Given the description of an element on the screen output the (x, y) to click on. 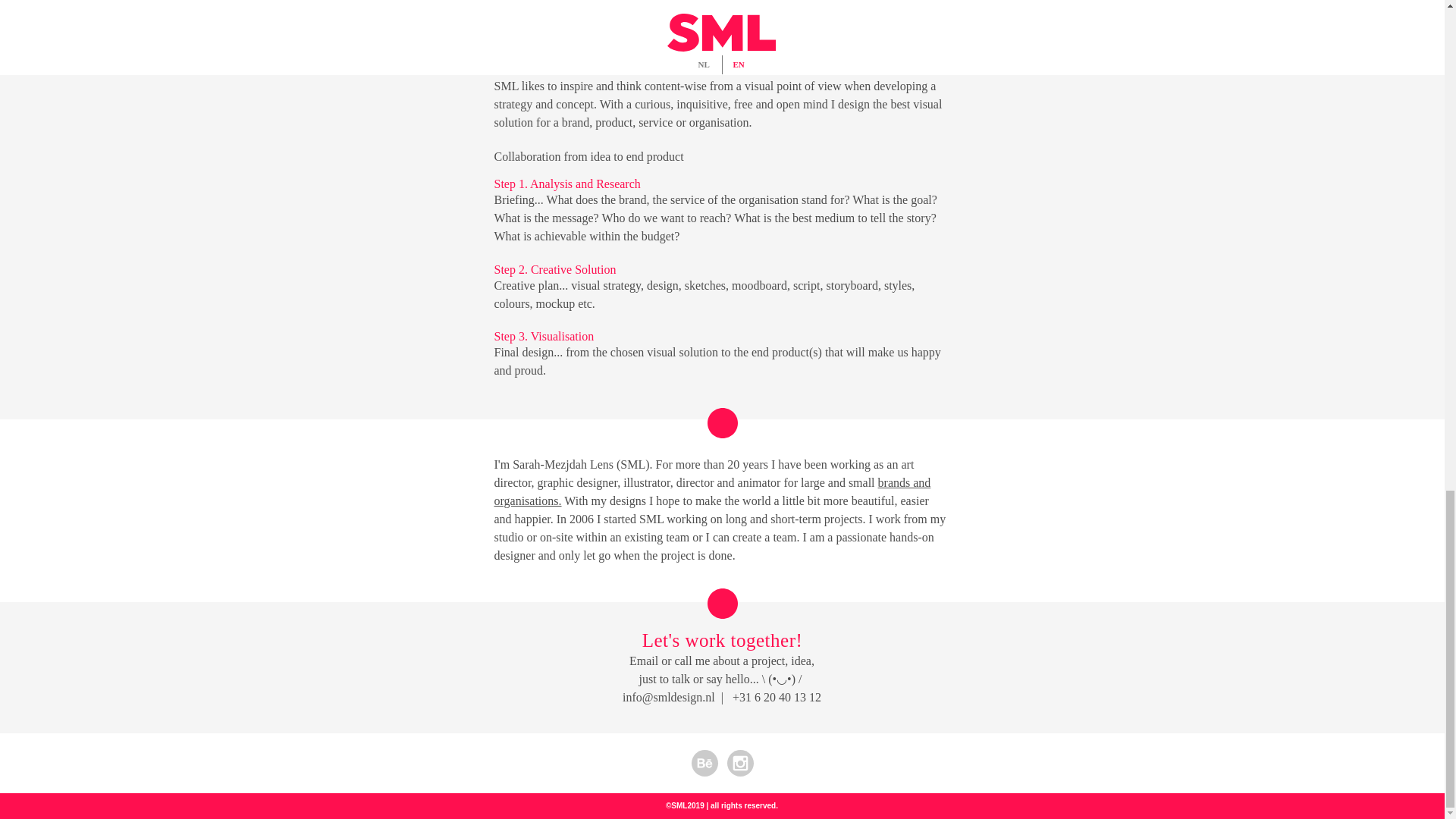
brands and organisations. (713, 490)
